Given the description of an element on the screen output the (x, y) to click on. 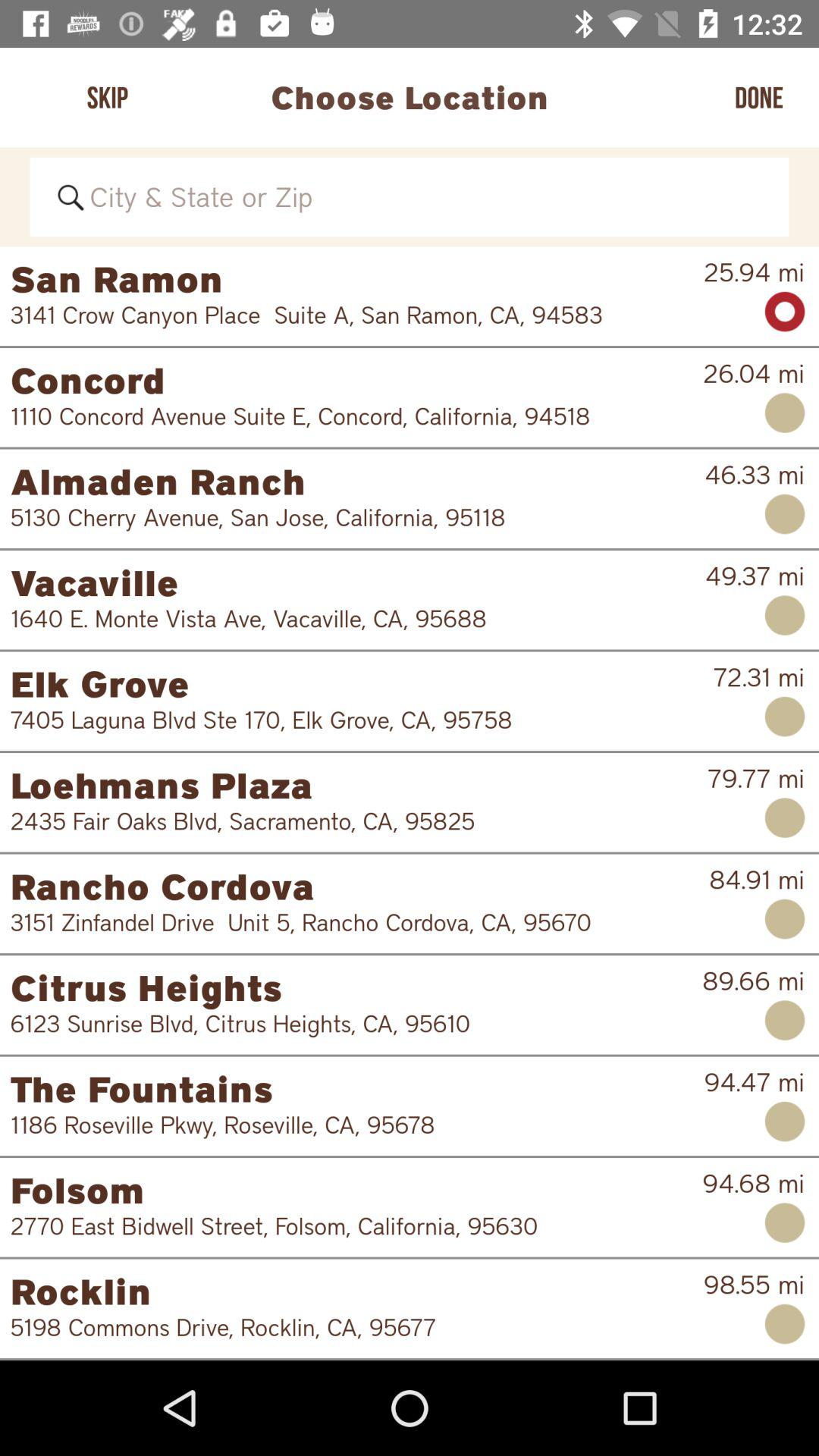
launch icon to the left of the 26.04 mi item (346, 416)
